Given the description of an element on the screen output the (x, y) to click on. 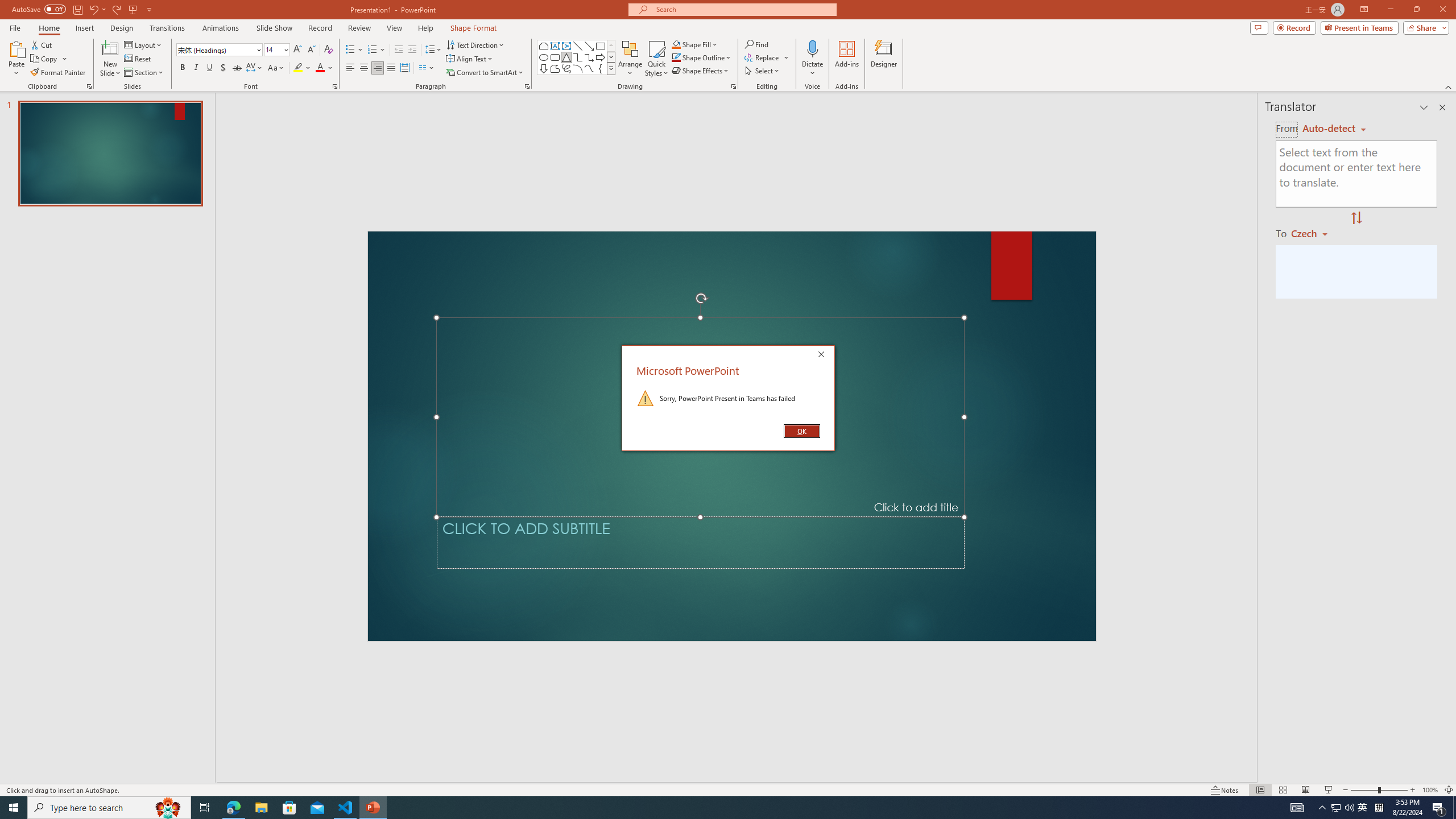
Zoom 100% (1430, 790)
